Given the description of an element on the screen output the (x, y) to click on. 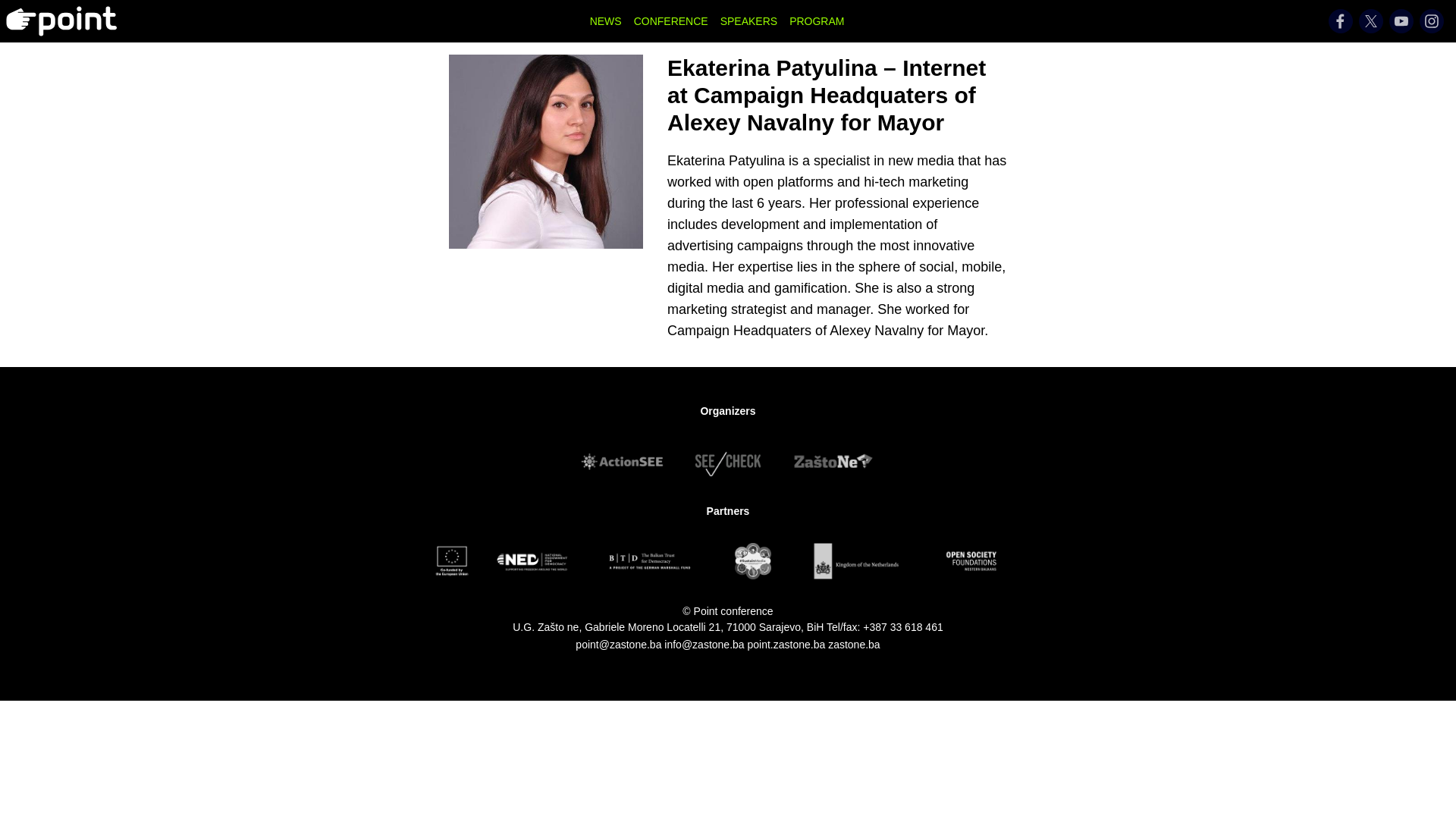
Youtube (1401, 21)
Twitter (1370, 21)
Facebook (1339, 21)
zastone.ba (854, 644)
Instagram (1431, 21)
Point conference (727, 611)
point.zastone.ba (786, 644)
PROGRAM (816, 21)
NEWS (605, 21)
CONFERENCE (670, 21)
